Given the description of an element on the screen output the (x, y) to click on. 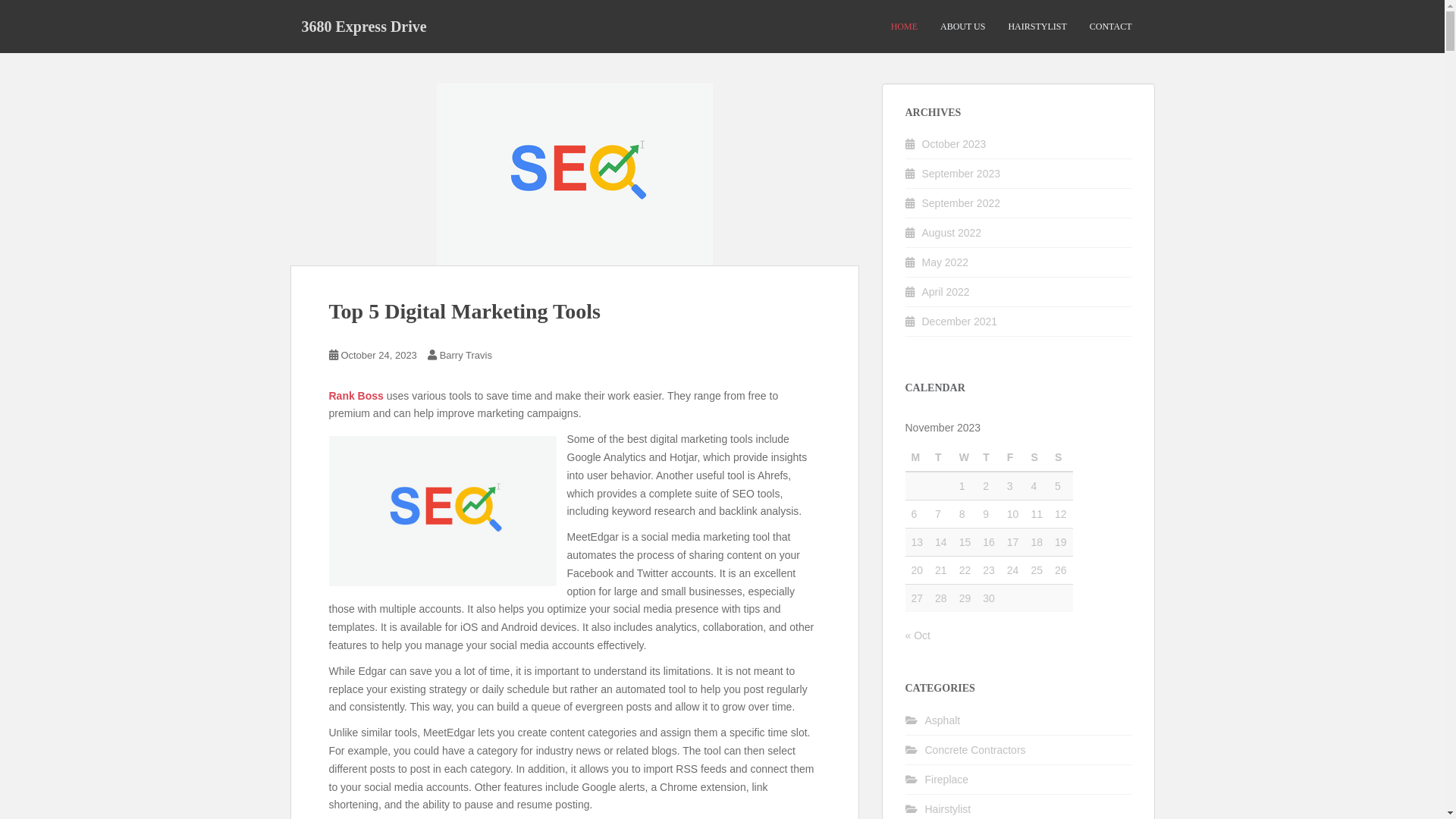
Concrete Contractors Element type: text (975, 749)
Top 5 Digital Marketing Tools Element type: hover (573, 174)
Barry Travis Element type: text (465, 354)
Hairstylist Element type: text (948, 809)
Fireplace Element type: text (947, 779)
September 2022 Element type: text (961, 203)
October 2023 Element type: text (954, 144)
CONTACT Element type: text (1110, 26)
ABOUT US Element type: text (962, 26)
Top 5 Digital Marketing Tools Element type: text (464, 311)
3680 Express Drive Element type: text (363, 26)
May 2022 Element type: text (945, 262)
HAIRSTYLIST Element type: text (1036, 26)
October 24, 2023 Element type: text (378, 354)
September 2023 Element type: text (961, 173)
August 2022 Element type: text (952, 232)
Asphalt Element type: text (942, 720)
April 2022 Element type: text (945, 291)
Rank Boss Element type: text (356, 395)
December 2021 Element type: text (959, 321)
HOME Element type: text (904, 26)
